Given the description of an element on the screen output the (x, y) to click on. 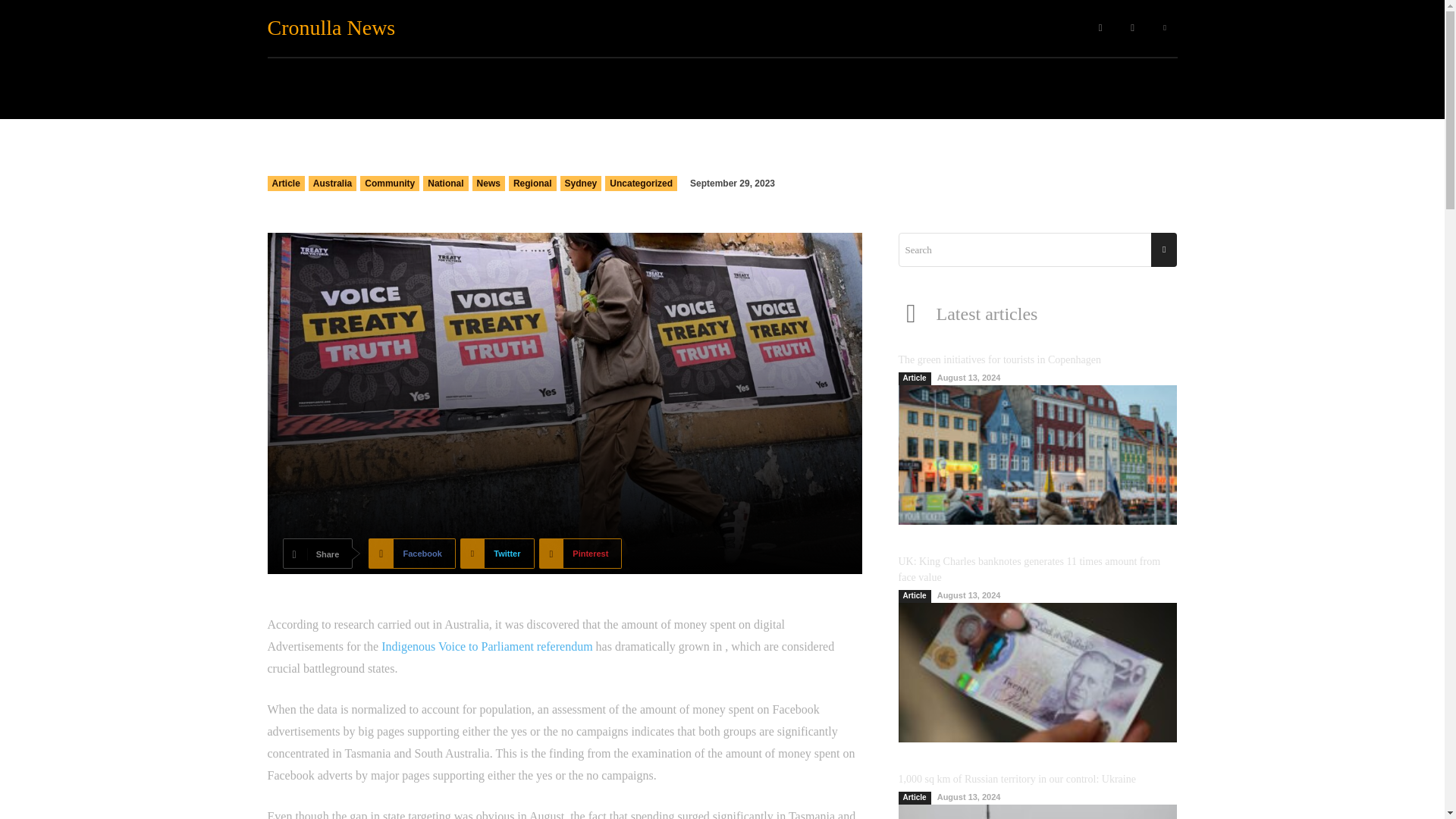
The green initiatives for tourists in Copenhagen (999, 359)
Australia (332, 183)
Cronulla News (343, 28)
The green initiatives for tourists in Copenhagen (1037, 454)
Internet (830, 28)
Games (934, 28)
Article (285, 183)
Community (628, 28)
